Given the description of an element on the screen output the (x, y) to click on. 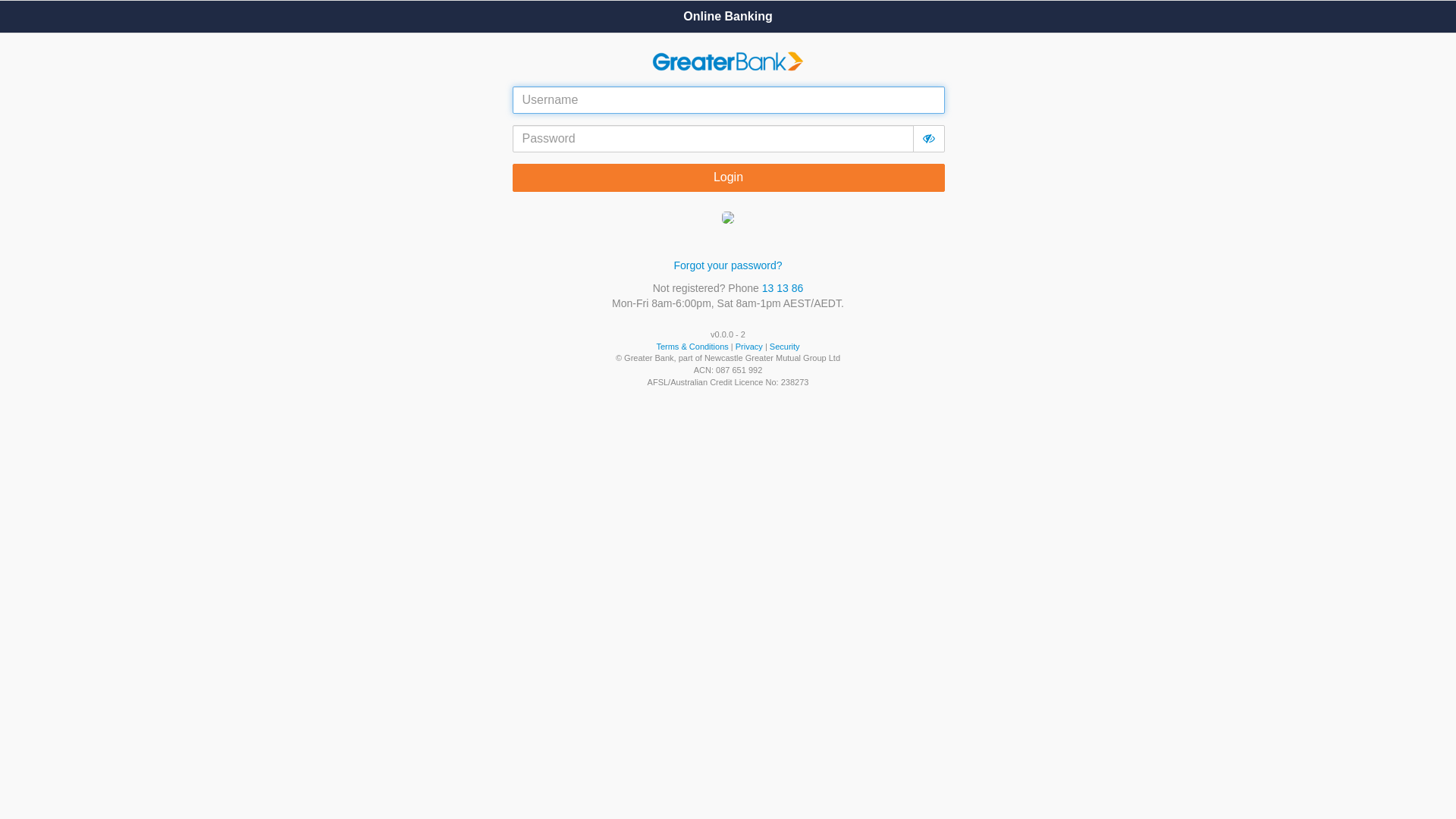
Terms & Conditions Element type: text (691, 346)
Privacy Element type: text (748, 346)
Forgot your password? Element type: text (727, 265)
Login Element type: text (728, 177)
13 13 86 Element type: text (782, 288)
Security Element type: text (784, 346)
